Given the description of an element on the screen output the (x, y) to click on. 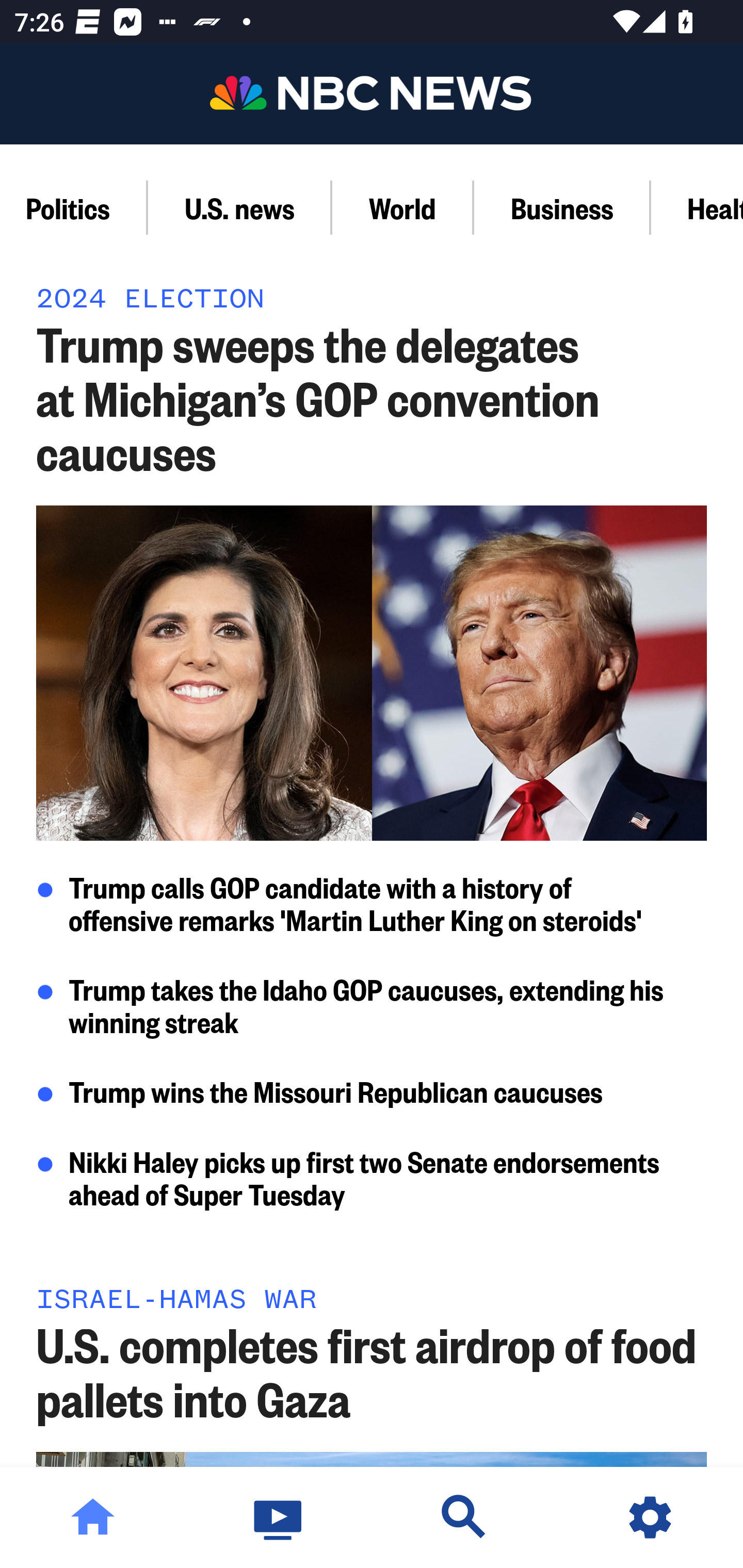
Politics Section,Politics (73, 207)
U.S. news Section,U.S. news (239, 207)
World Section,World (403, 207)
Business Section,Business (562, 207)
Watch (278, 1517)
Discover (464, 1517)
Settings (650, 1517)
